Given the description of an element on the screen output the (x, y) to click on. 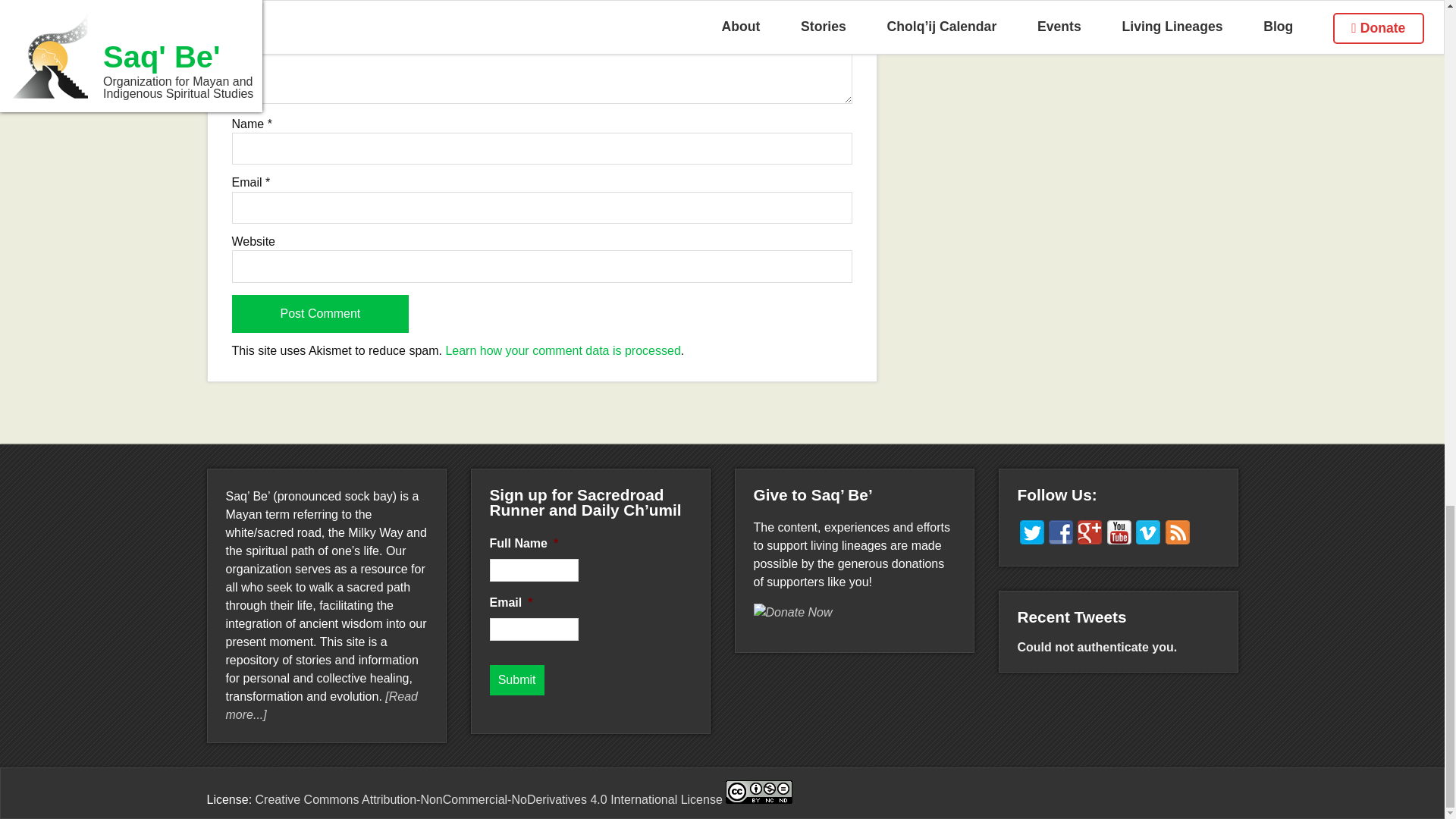
Post Comment (320, 313)
Submit (516, 680)
Post Comment (320, 313)
Learn how your comment data is processed (562, 350)
